Given the description of an element on the screen output the (x, y) to click on. 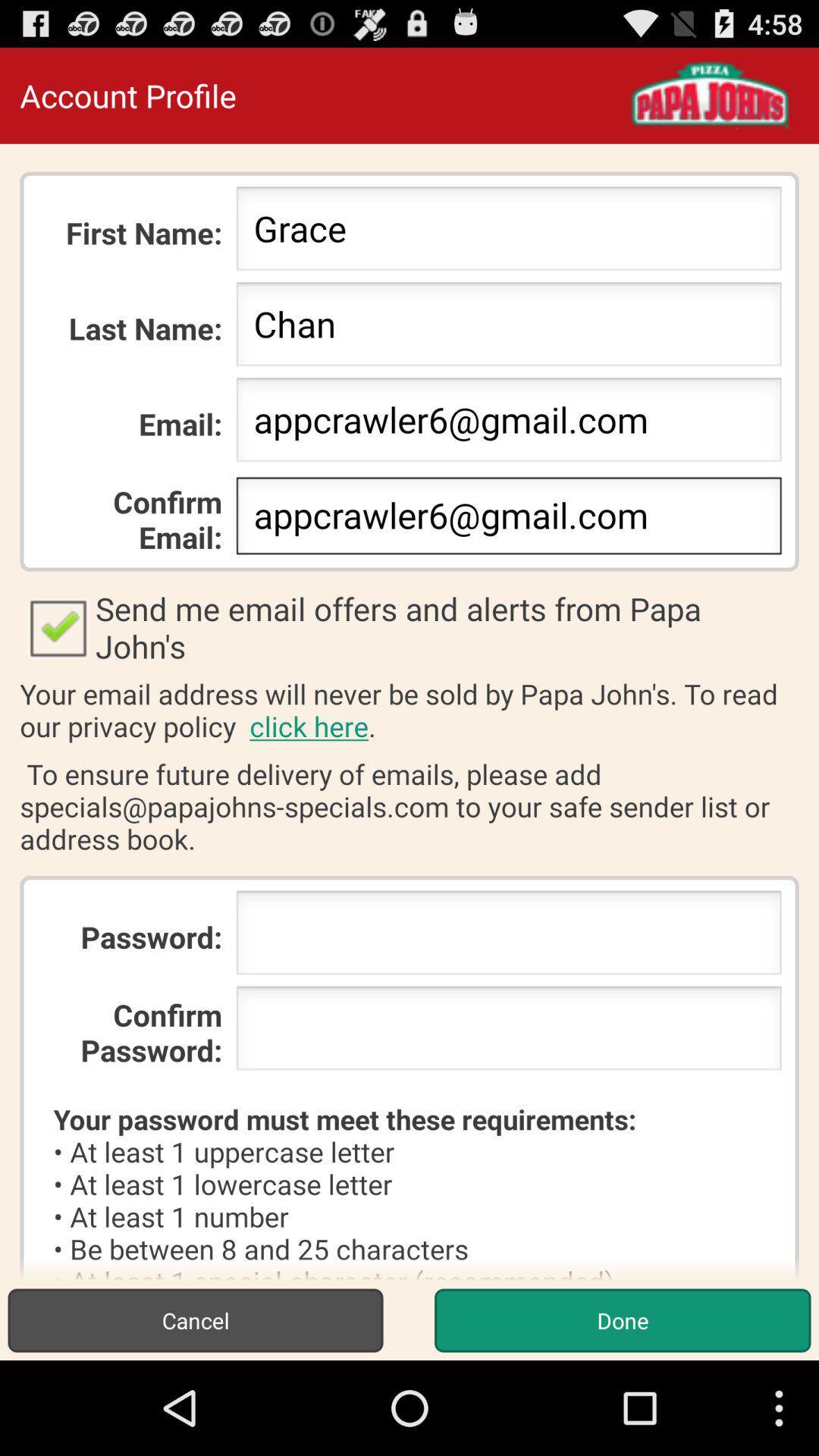
open item to the right of the cancel button (622, 1320)
